Given the description of an element on the screen output the (x, y) to click on. 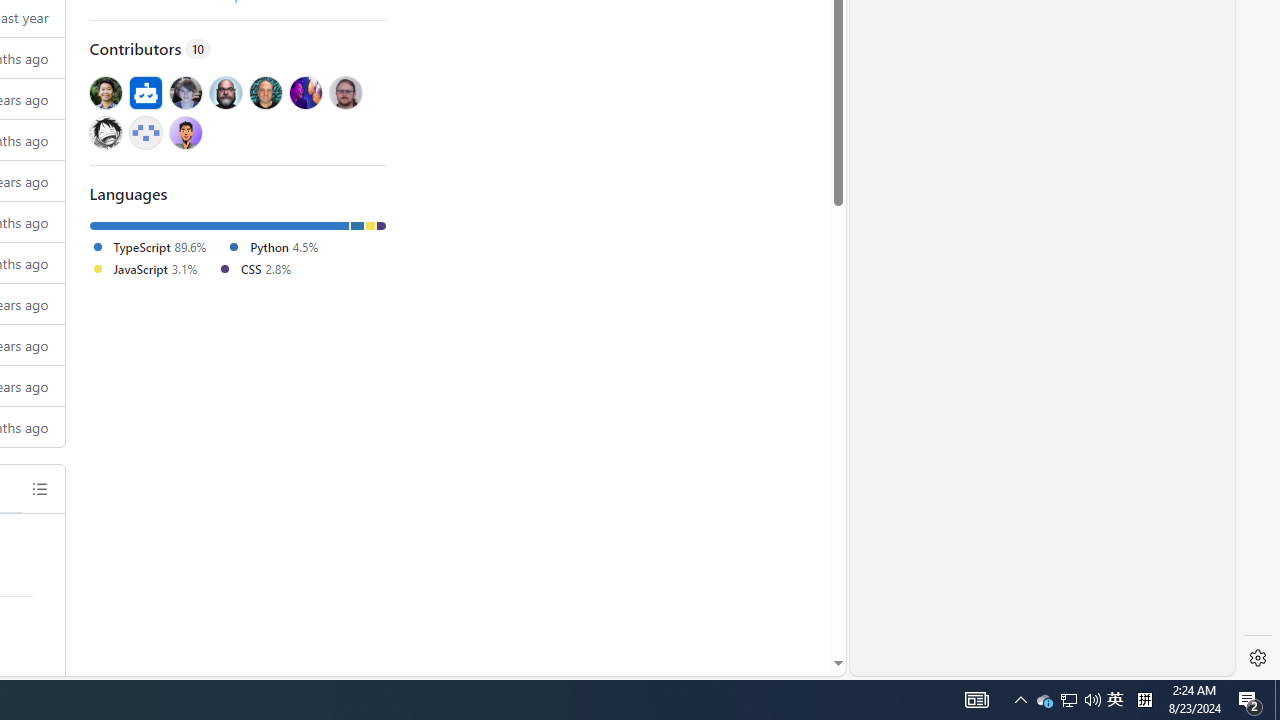
@davidak (185, 92)
JavaScript 3.1% (143, 268)
CSS 2.8% (253, 268)
TypeScript89.6% (157, 247)
@Haroenv (305, 92)
TypeScript 89.6% (148, 246)
Python 4.5% (272, 246)
@dguo (105, 92)
Contributors 10 (237, 48)
JavaScript3.1% (153, 269)
@coderberry (224, 92)
@davidak (185, 92)
Python4.5% (280, 247)
@web3Gurung (185, 132)
